Given the description of an element on the screen output the (x, y) to click on. 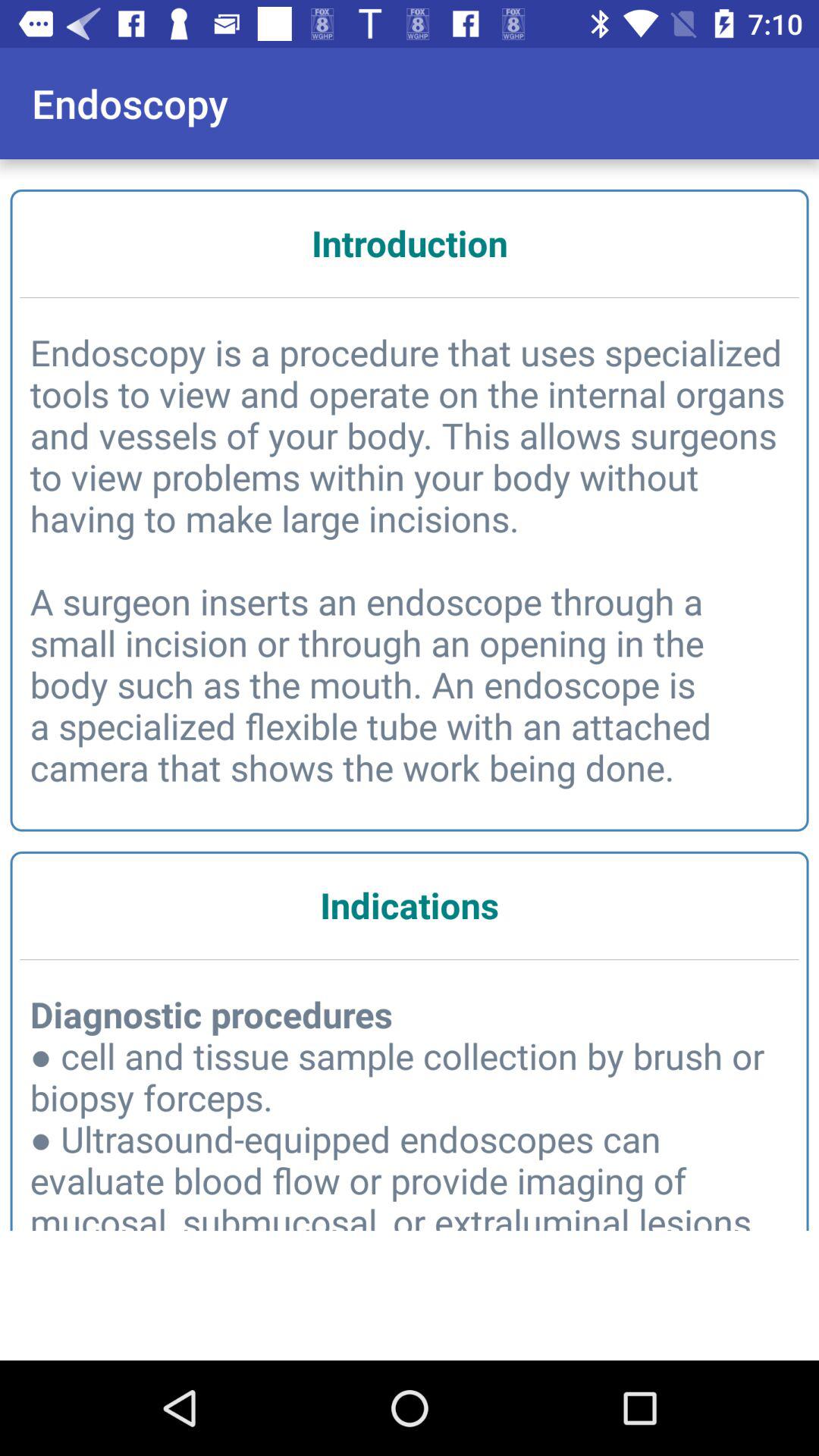
turn off item below the endoscopy is a item (409, 904)
